Given the description of an element on the screen output the (x, y) to click on. 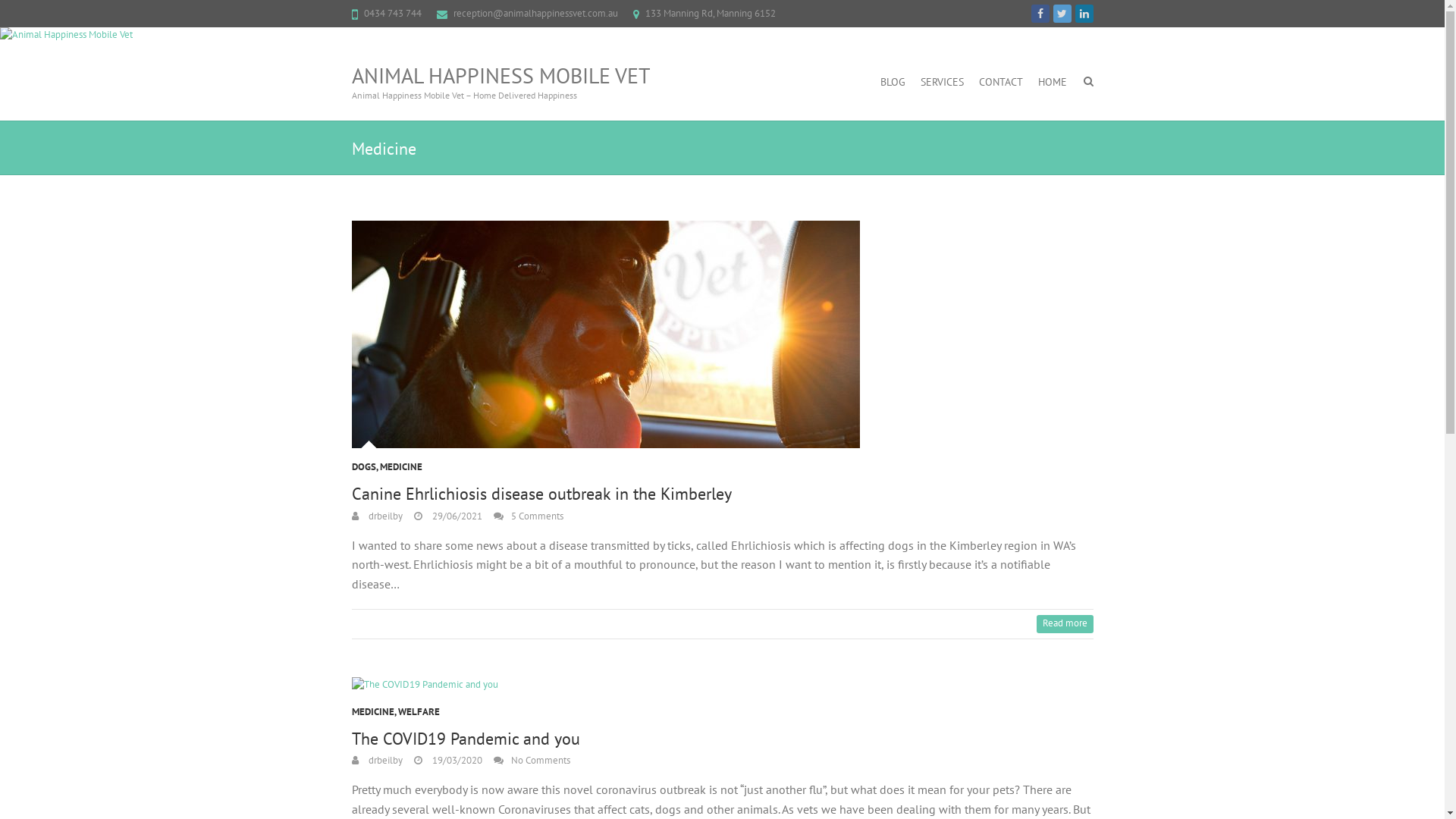
19/03/2020 Element type: text (448, 759)
Canine Ehrlichiosis disease outbreak in the Kimberley Element type: text (541, 493)
29/06/2021 Element type: text (448, 515)
DOGS Element type: text (363, 471)
HOME Element type: text (1051, 81)
drbeilby Element type: text (376, 515)
Canine Ehrlichiosis disease outbreak in the Kimberley Element type: hover (605, 334)
5 Comments Element type: text (527, 515)
The COVID19 Pandemic and you Element type: text (465, 738)
drbeilby Element type: text (376, 759)
Animal Happiness Mobile Vet on LinkedIn Element type: hover (1084, 13)
ANIMAL HAPPINESS MOBILE VET Element type: text (500, 75)
Read more Element type: text (1063, 624)
The COVID19 Pandemic and you Element type: hover (722, 685)
Animal Happiness Mobile Vet on Twitter Element type: hover (1061, 13)
The COVID19 Pandemic and you Element type: hover (424, 685)
reception@animalhappinessvet.com.au Element type: text (535, 12)
BLOG Element type: text (891, 81)
Canine Ehrlichiosis disease outbreak in the Kimberley Element type: hover (722, 334)
MEDICINE Element type: text (372, 716)
WELFARE Element type: text (418, 716)
MEDICINE Element type: text (400, 471)
No Comments Element type: text (530, 759)
0434 743 744 Element type: text (392, 12)
Animal Happiness Mobile Vet on Facebook Element type: hover (1040, 13)
SERVICES Element type: text (941, 81)
CONTACT Element type: text (1000, 81)
